Given the description of an element on the screen output the (x, y) to click on. 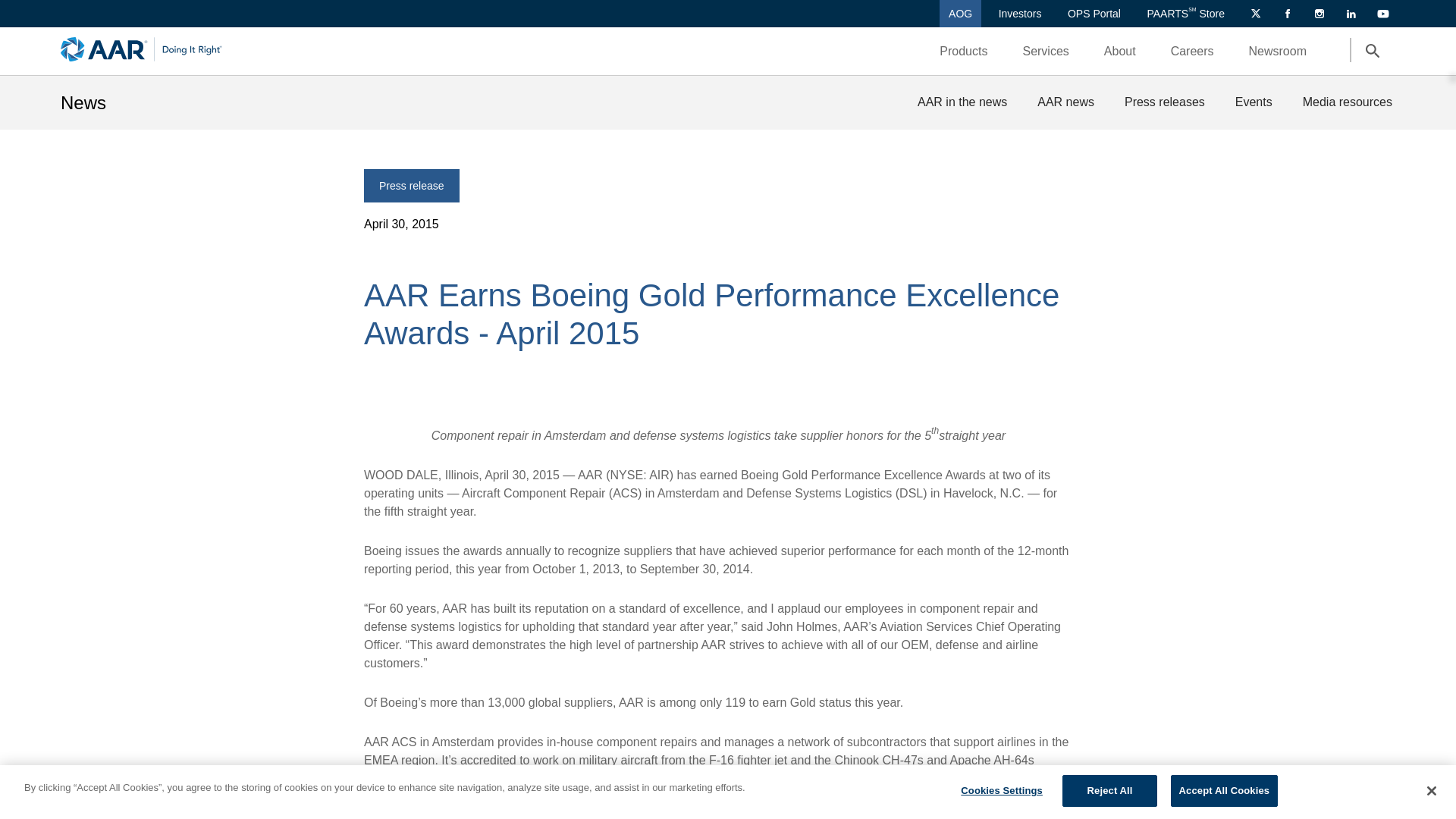
OPS Portal (1093, 13)
PAARTSSM Store (1185, 13)
Investors (1020, 13)
Careers (1192, 51)
OPS Portal (1093, 13)
Services (1055, 50)
Careers (1202, 50)
About (1119, 51)
LinkedIn (1347, 13)
About (1129, 50)
Products (972, 50)
Instagram (1315, 13)
AOG (960, 13)
YouTube (1379, 13)
Newsroom (1277, 51)
